Given the description of an element on the screen output the (x, y) to click on. 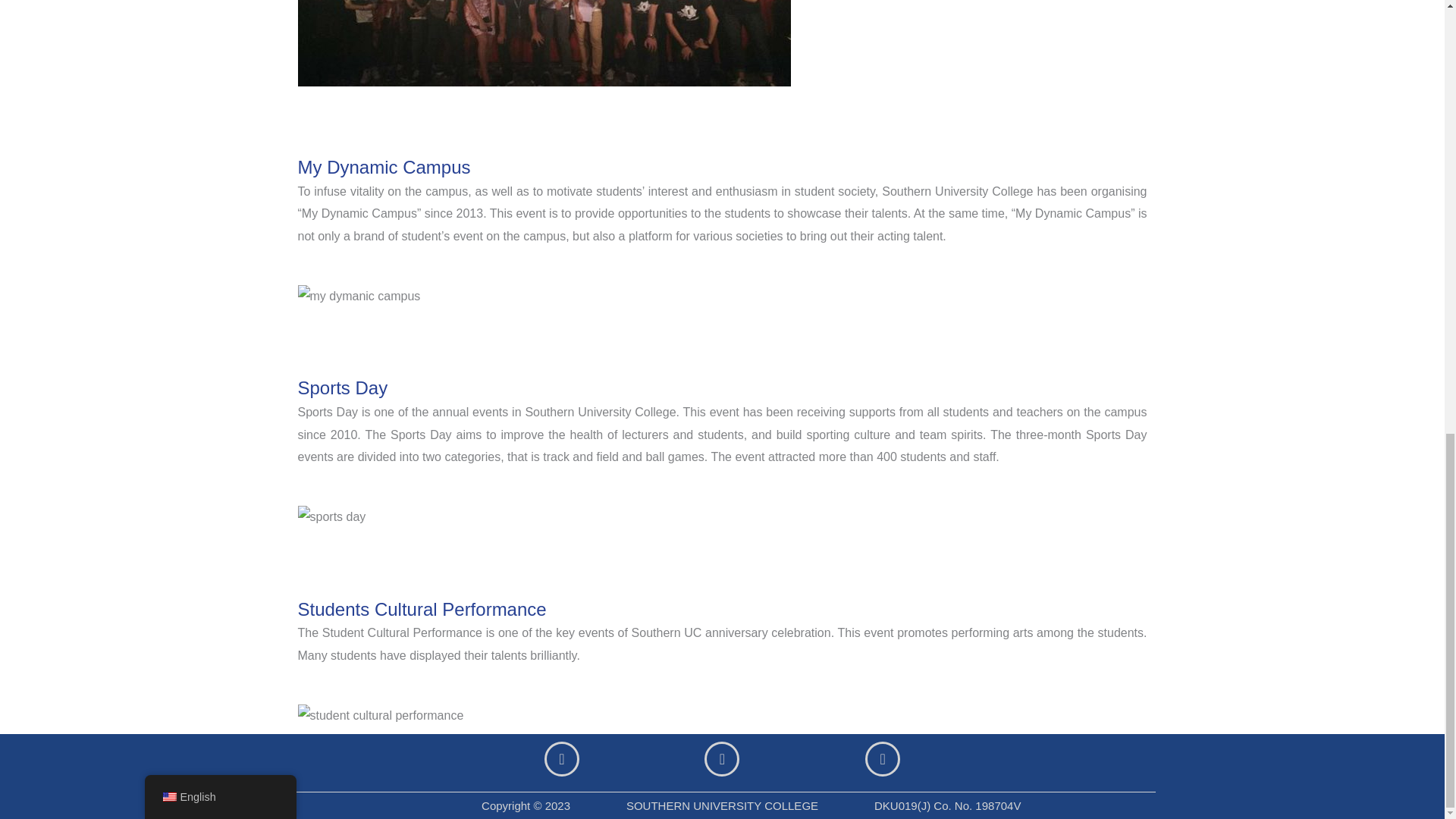
my dymanic campus (358, 296)
sports day (331, 517)
jump party (543, 43)
student cultural performance (380, 715)
